Given the description of an element on the screen output the (x, y) to click on. 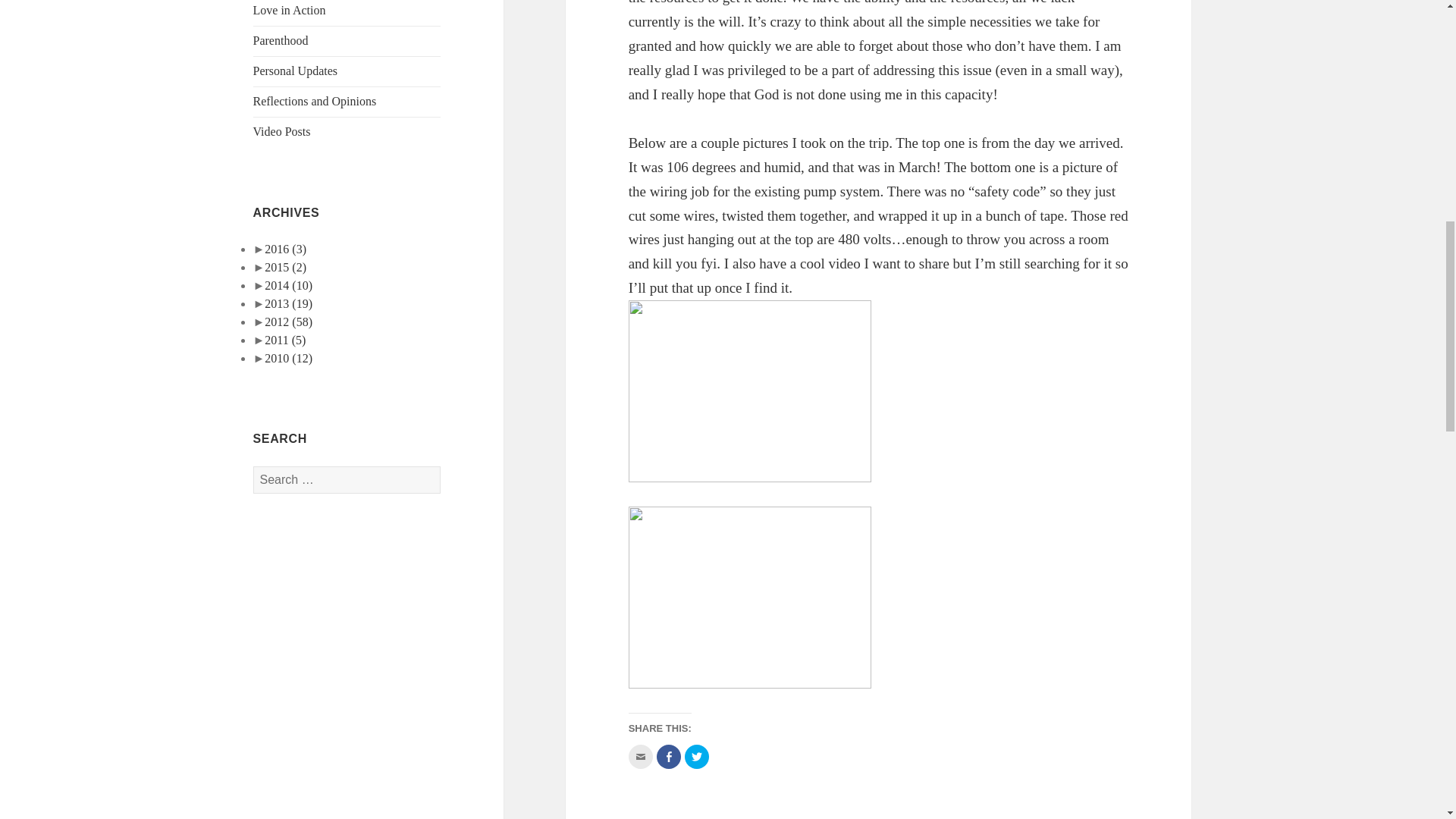
Reflections and Opinions (315, 101)
Love in Action (289, 10)
Personal Updates (295, 70)
Parenthood (280, 40)
Video Posts (282, 131)
click to expand (283, 285)
click to expand (280, 248)
click to expand (280, 267)
